Given the description of an element on the screen output the (x, y) to click on. 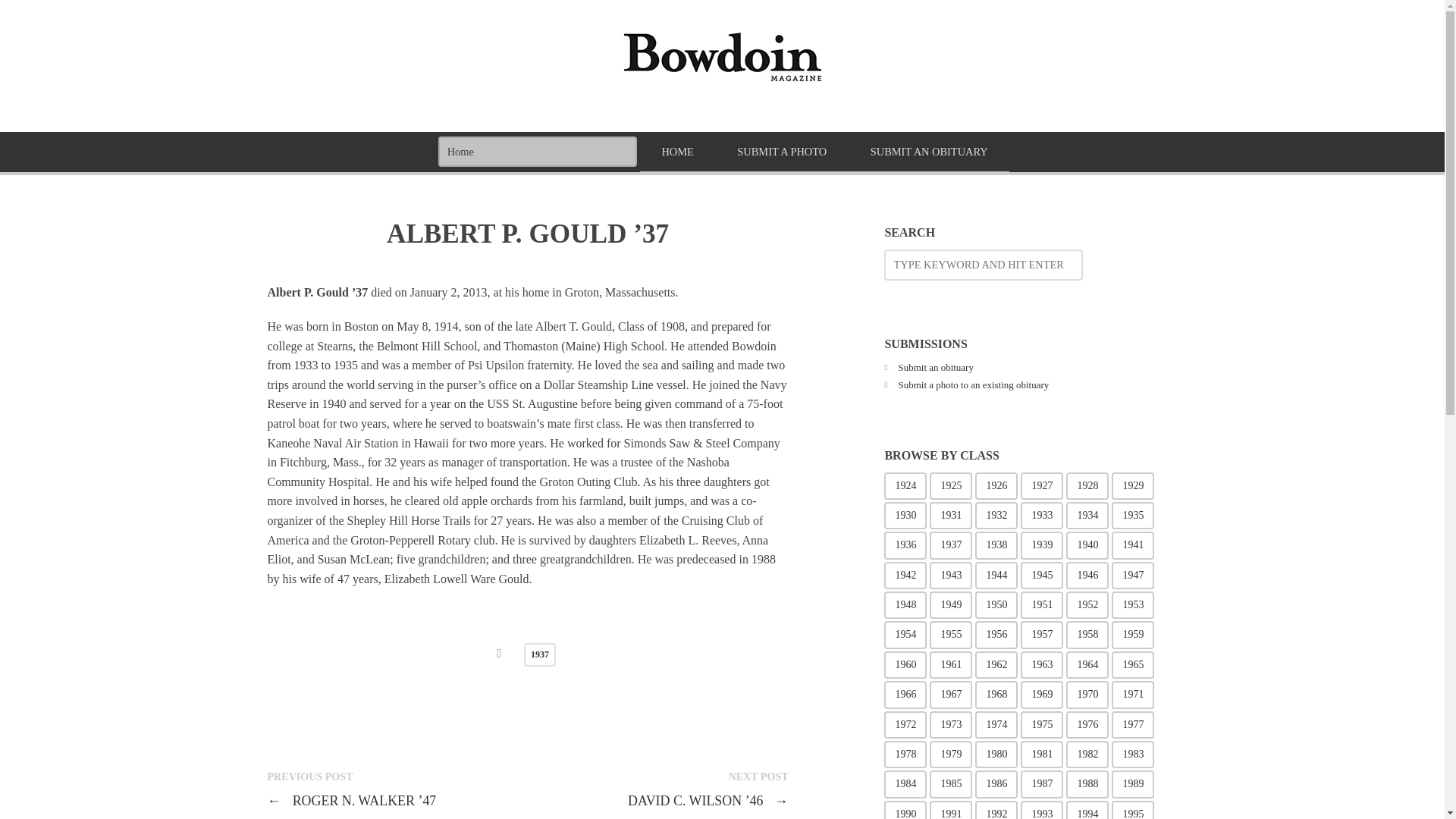
1 topic (996, 484)
1942 (904, 574)
SUBMIT AN OBITUARY (928, 152)
1936 (904, 544)
2 topics (1041, 484)
1 topic (951, 484)
1933 (1041, 515)
1939 (1041, 544)
1940 (1086, 544)
Search (45, 16)
